Given the description of an element on the screen output the (x, y) to click on. 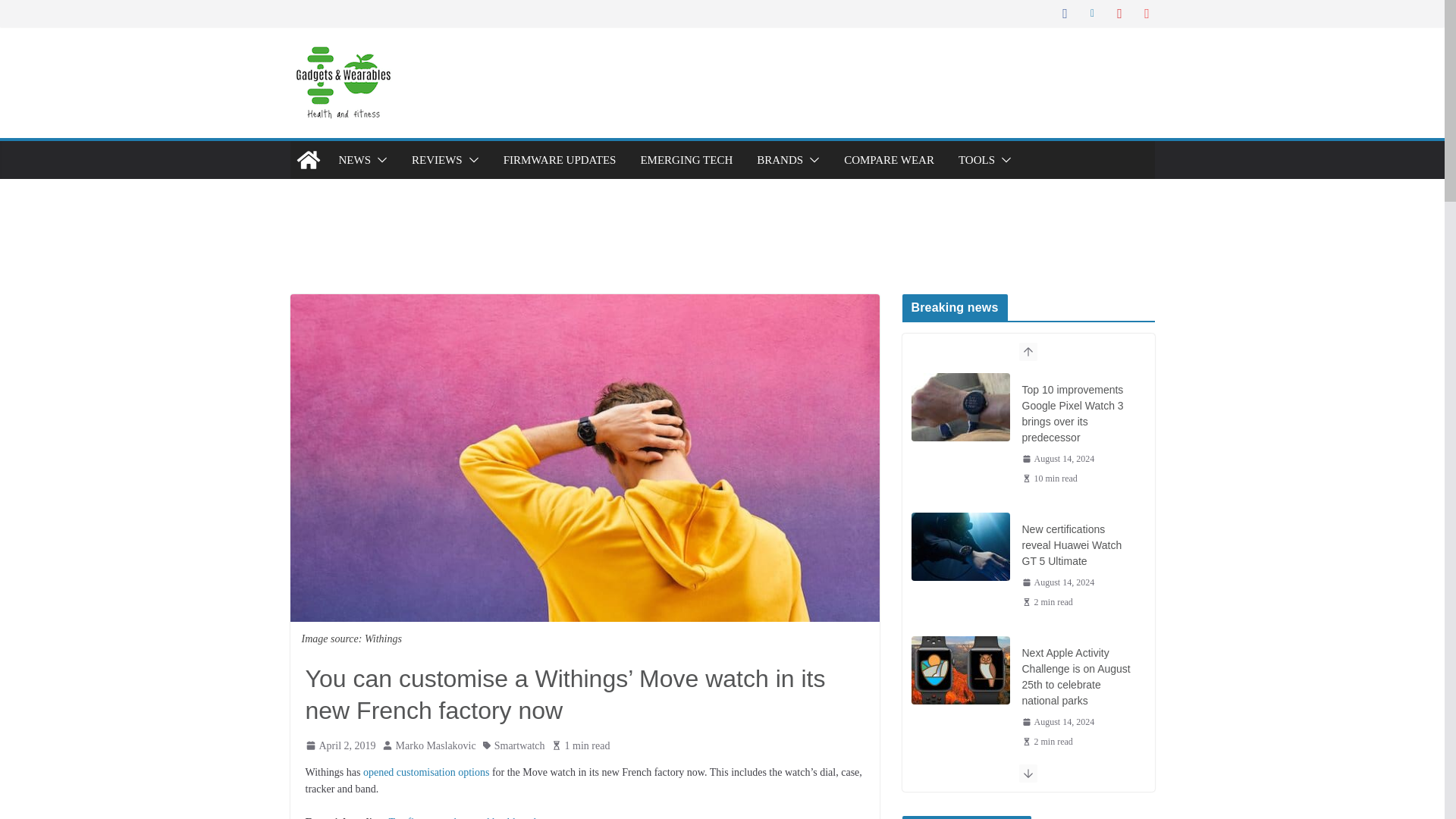
FIRMWARE UPDATES (559, 159)
2:40 pm (1058, 459)
NEWS (354, 159)
BRANDS (780, 159)
Marko Maslakovic (436, 745)
New certifications reveal Huawei Watch GT 5 Ultimate (960, 546)
EMERGING TECH (686, 159)
New certifications reveal Huawei Watch GT 5 Ultimate (1078, 545)
REVIEWS (437, 159)
